Given the description of an element on the screen output the (x, y) to click on. 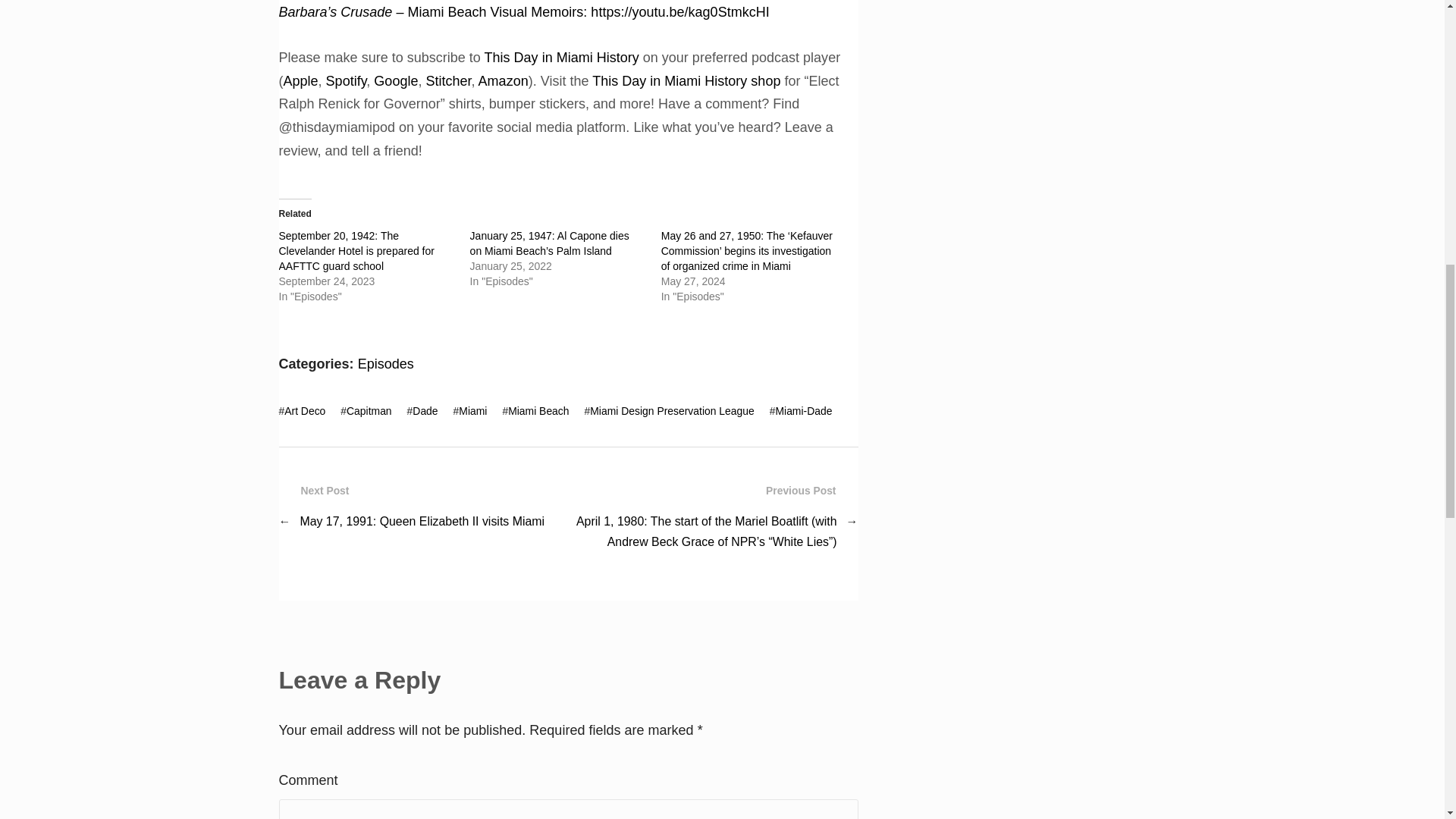
Dade (425, 410)
Apple (300, 80)
Amazon (503, 80)
Episodes (385, 363)
Art Deco (303, 410)
This Day in Miami History shop (686, 80)
Spotify (346, 80)
Miami (472, 410)
This Day in Miami History (561, 57)
Capitman (368, 410)
Stitcher (447, 80)
Google (395, 80)
Miami Beach (538, 410)
